Given the description of an element on the screen output the (x, y) to click on. 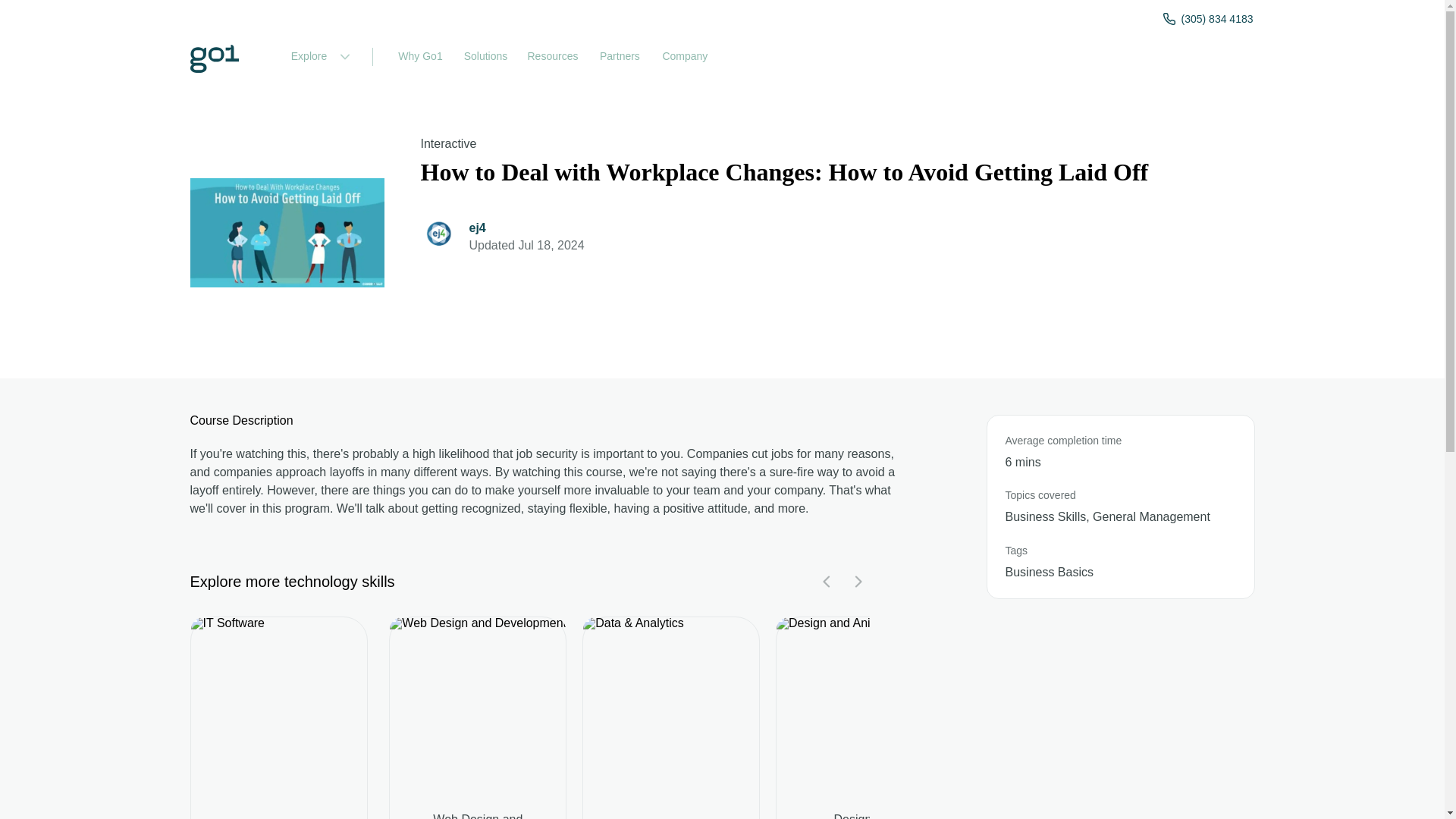
Solutions (485, 56)
Web Design and Development (477, 816)
Explore (317, 56)
Resources (553, 56)
Design and Animation (864, 816)
Company (684, 56)
Partners (619, 56)
Why Go1 (420, 56)
